Given the description of an element on the screen output the (x, y) to click on. 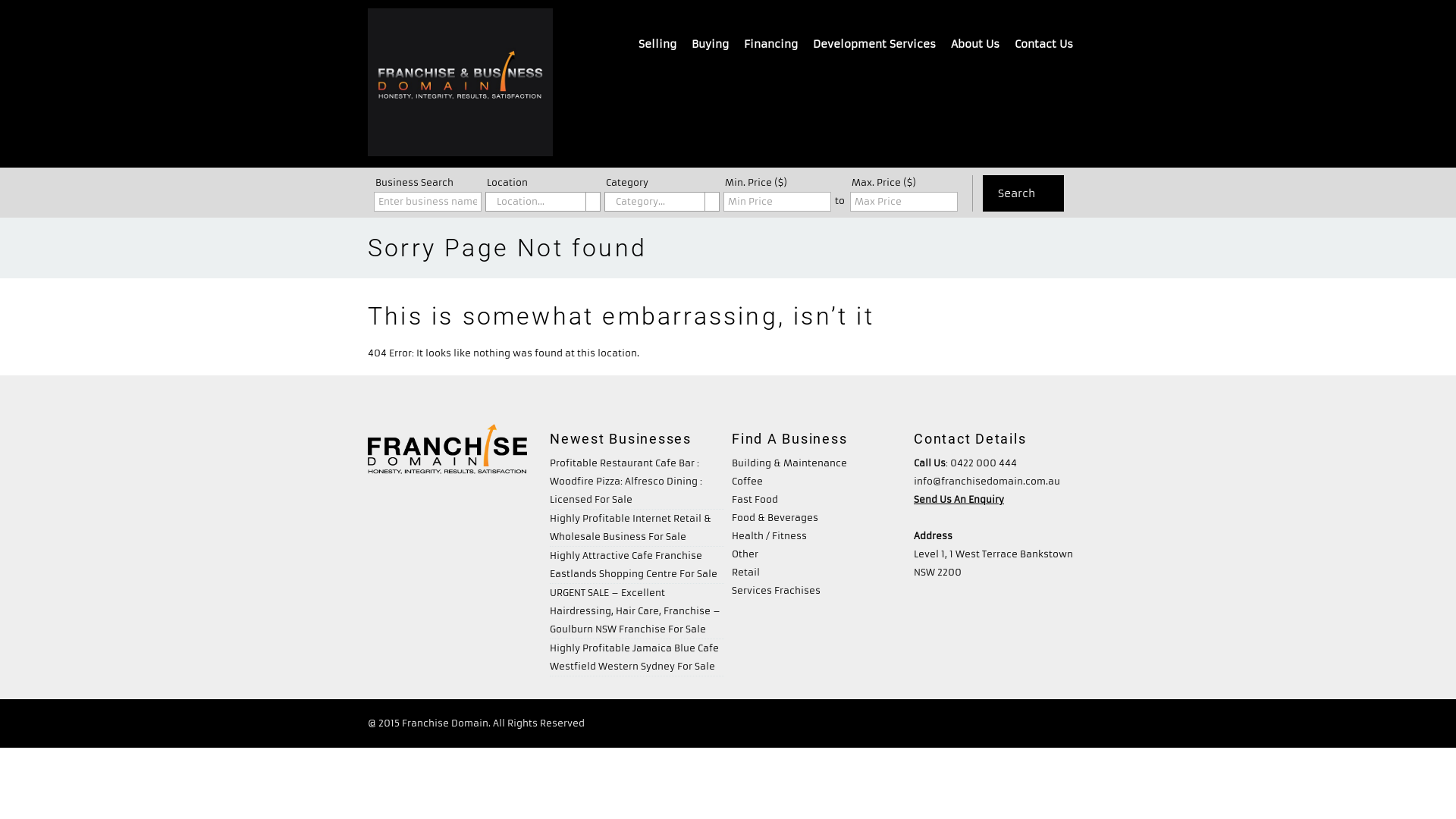
Search Element type: text (1022, 193)
Financing Element type: text (770, 43)
Buying Element type: text (788, 722)
Building & Maintenance Element type: text (789, 462)
Development Services Element type: text (972, 722)
Food & Beverages Element type: text (774, 517)
Contact Us Element type: text (1062, 722)
Home Element type: hover (459, 85)
Contact Us Element type: text (1043, 43)
Health / Fitness Element type: text (768, 535)
About Us Element type: text (974, 43)
About Us Element type: text (739, 722)
Location... Element type: text (542, 201)
Fast Food Element type: text (754, 499)
Send Us An Enquiry Element type: text (958, 499)
Other Element type: text (744, 553)
Financing Element type: text (883, 722)
info@franchisedomain.com.au Element type: text (986, 480)
Home Element type: text (693, 722)
Coffee Element type: text (746, 480)
Development Services Element type: text (873, 43)
Category... Element type: text (661, 201)
Retail Element type: text (745, 571)
Selling Element type: text (657, 43)
Selling Element type: text (832, 722)
Buying Element type: text (709, 43)
Services Frachises Element type: text (775, 590)
